Given the description of an element on the screen output the (x, y) to click on. 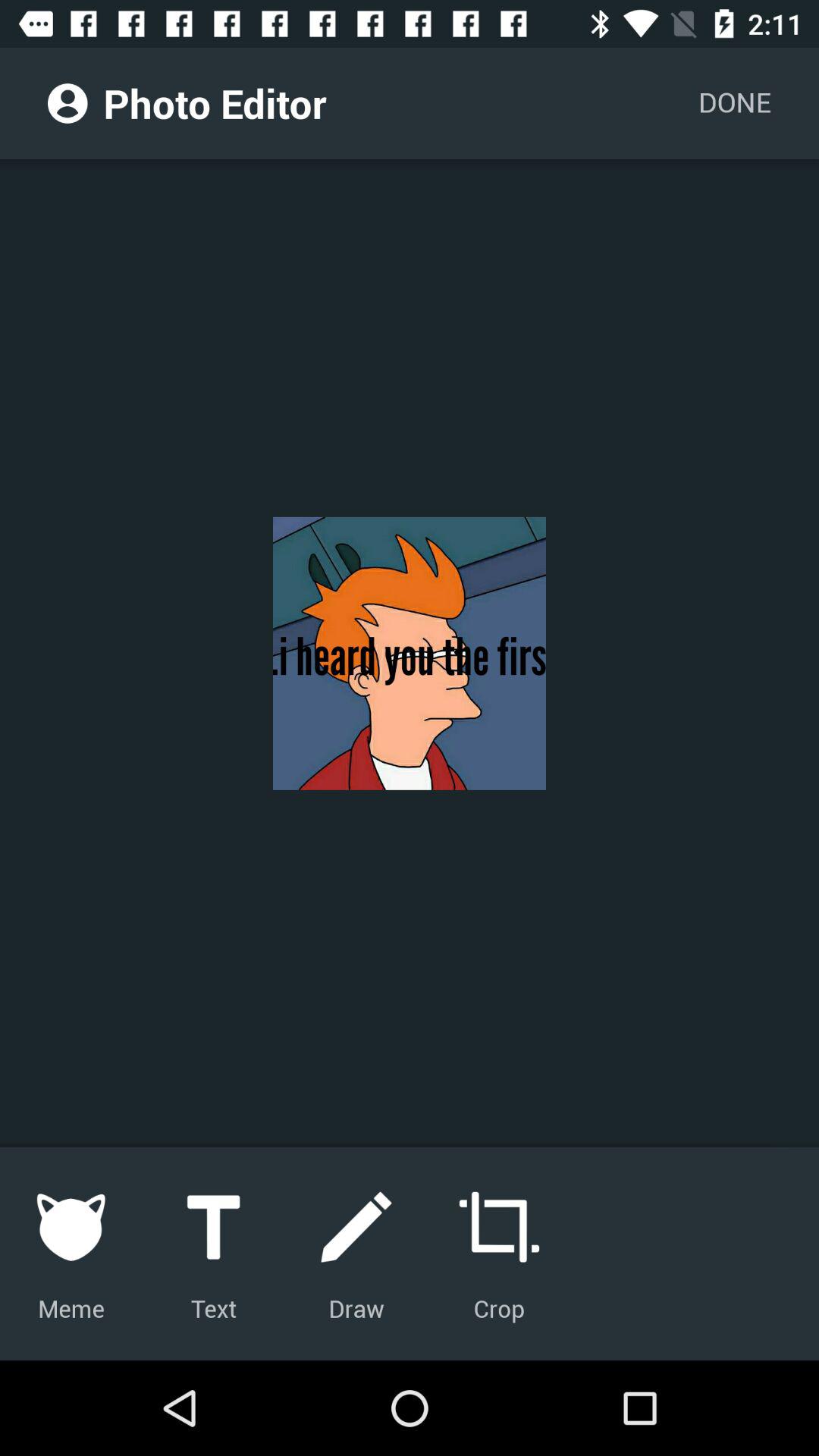
tap the item at the top left corner (67, 103)
